Given the description of an element on the screen output the (x, y) to click on. 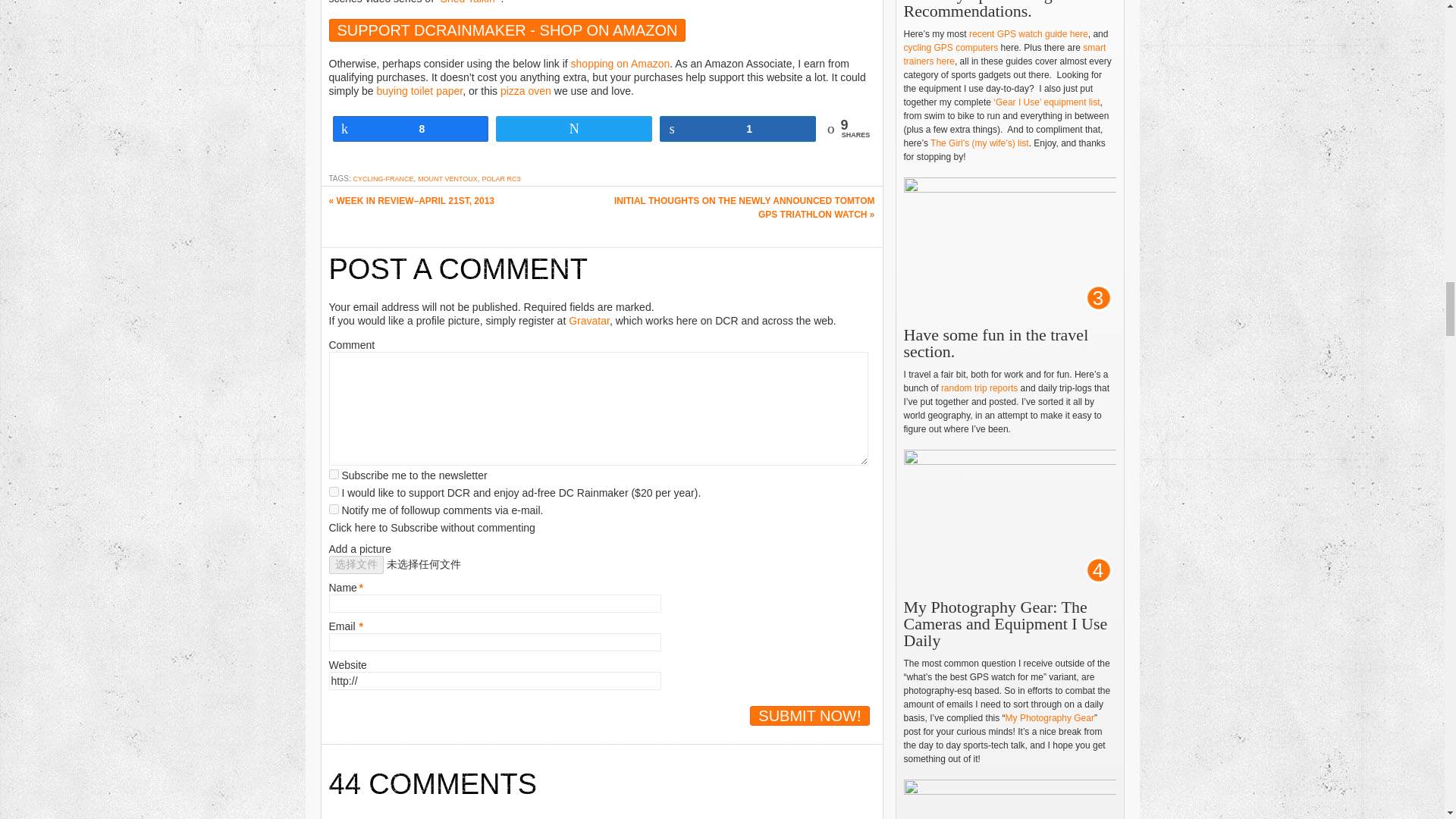
Submit Now! (809, 715)
on (334, 474)
on (334, 491)
1 (334, 509)
